Given the description of an element on the screen output the (x, y) to click on. 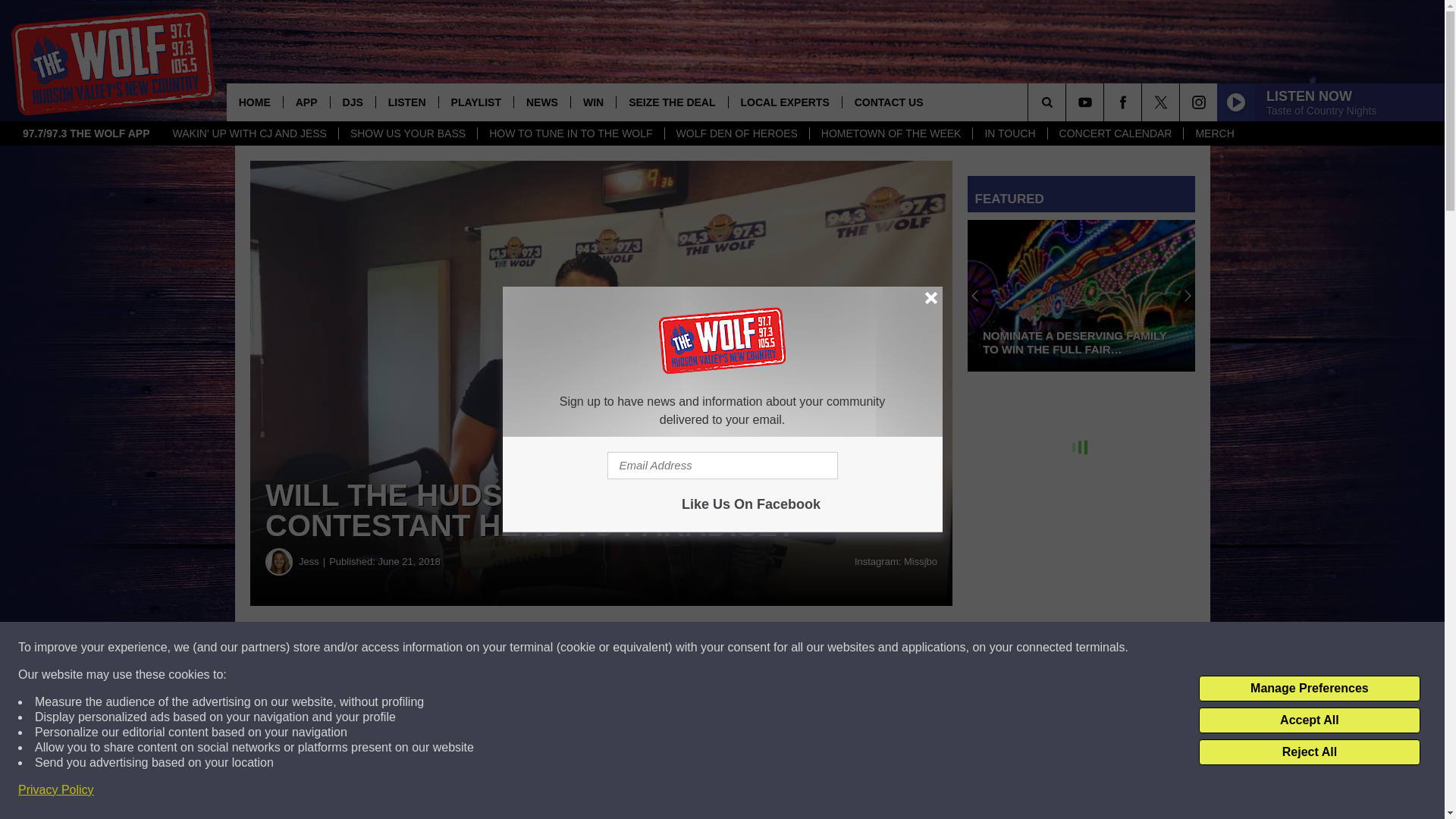
APP (306, 102)
Email Address (722, 465)
HOMETOWN OF THE WEEK (890, 133)
IN TOUCH (1009, 133)
WOLF DEN OF HEROES (736, 133)
Privacy Policy (55, 789)
MERCH (1213, 133)
PLAYLIST (475, 102)
CONCERT CALENDAR (1114, 133)
HOW TO TUNE IN TO THE WOLF (570, 133)
Share on Facebook (460, 647)
SEIZE THE DEAL (670, 102)
DJS (352, 102)
Reject All (1309, 751)
SHOW US YOUR BASS (407, 133)
